Given the description of an element on the screen output the (x, y) to click on. 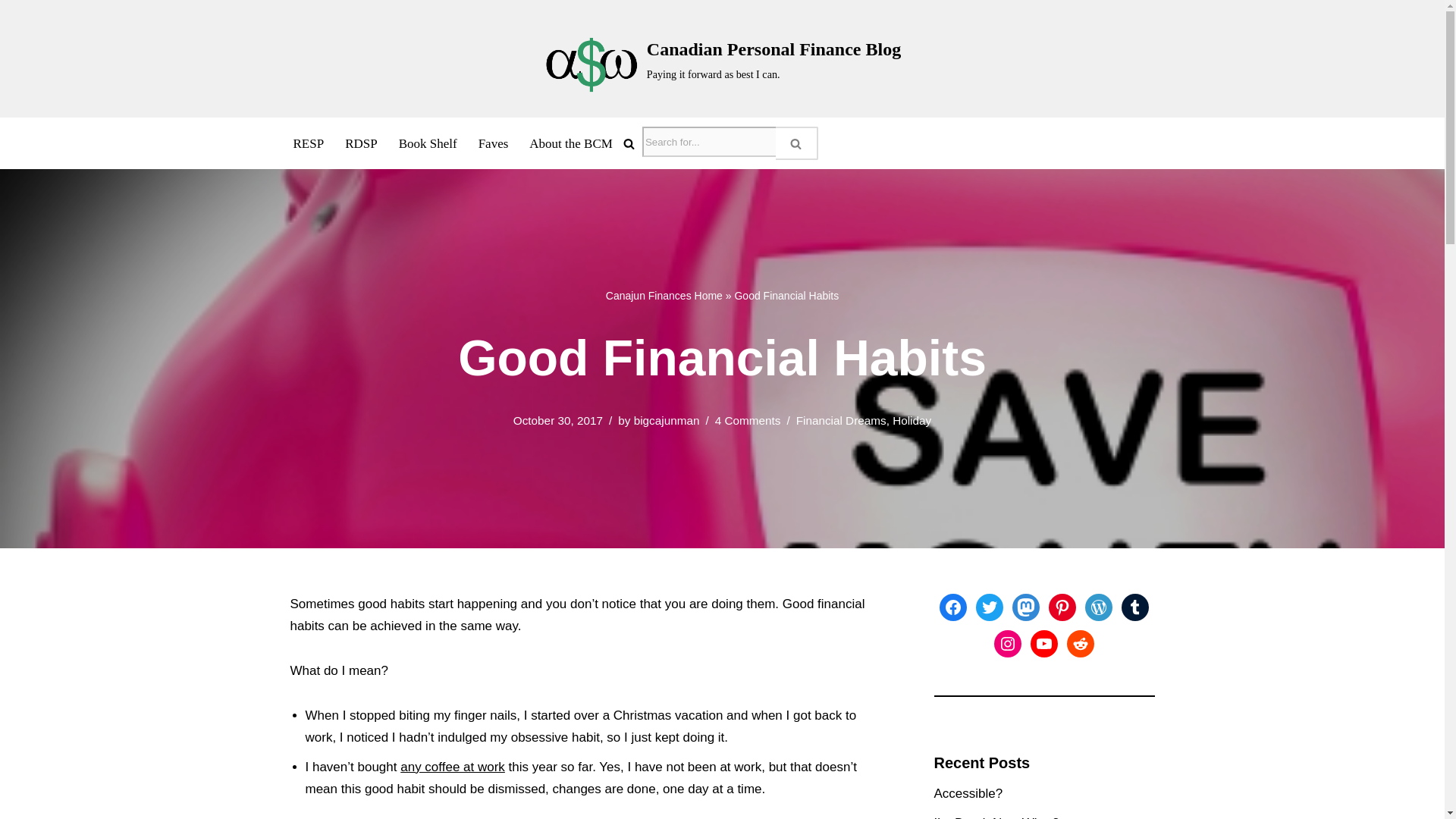
any coffee at work (452, 766)
bigcajunman (666, 420)
Book Shelf (427, 142)
RDSP (361, 142)
Skip to content (11, 31)
Faves (493, 142)
Financial Dreams (841, 420)
RDSP (361, 142)
Posts by bigcajunman (666, 420)
